Given the description of an element on the screen output the (x, y) to click on. 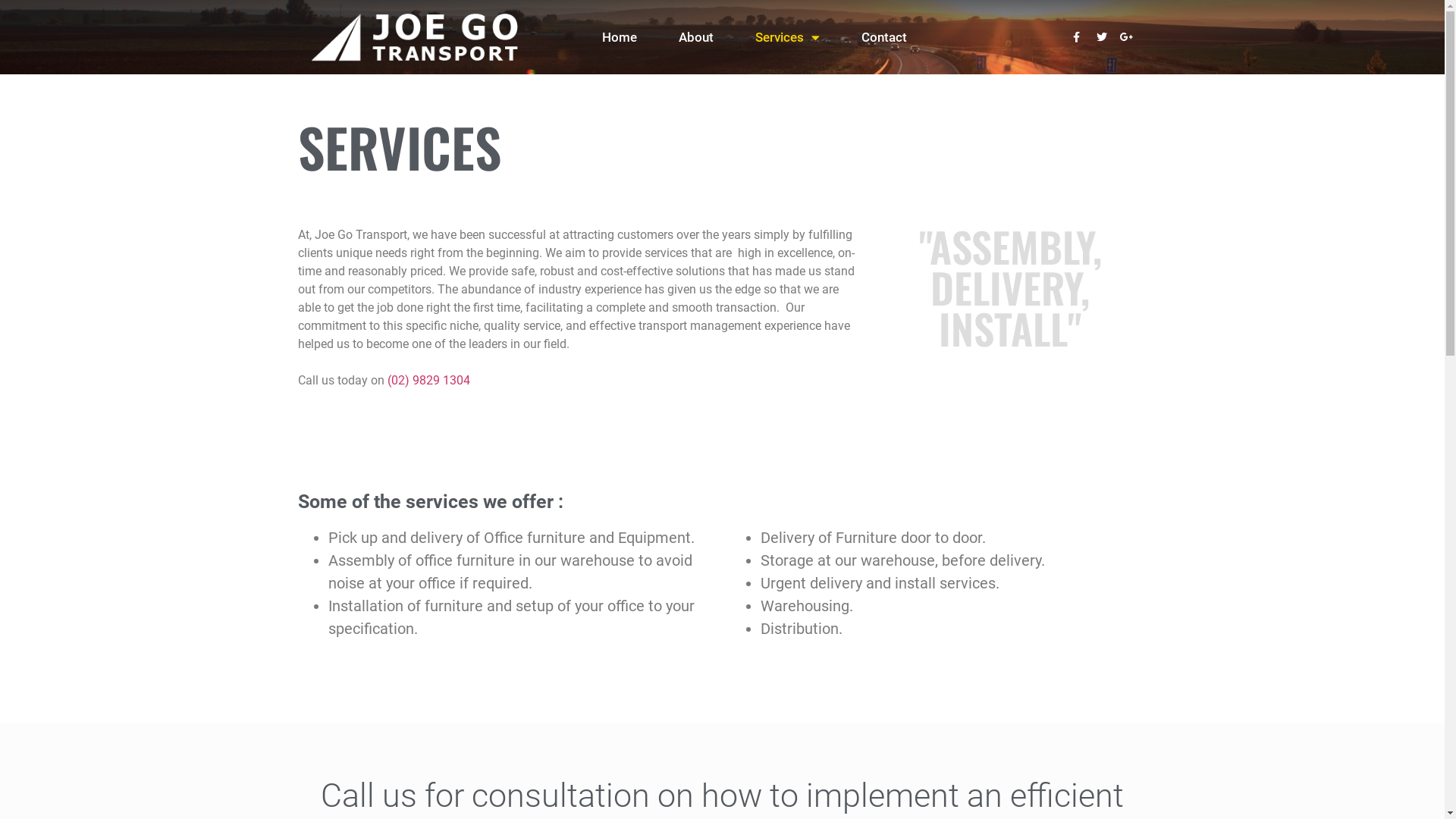
About Element type: text (695, 37)
Home Element type: text (619, 37)
Contact Element type: text (884, 37)
Services Element type: text (787, 37)
(02) 9829 1304 Element type: text (427, 380)
